Given the description of an element on the screen output the (x, y) to click on. 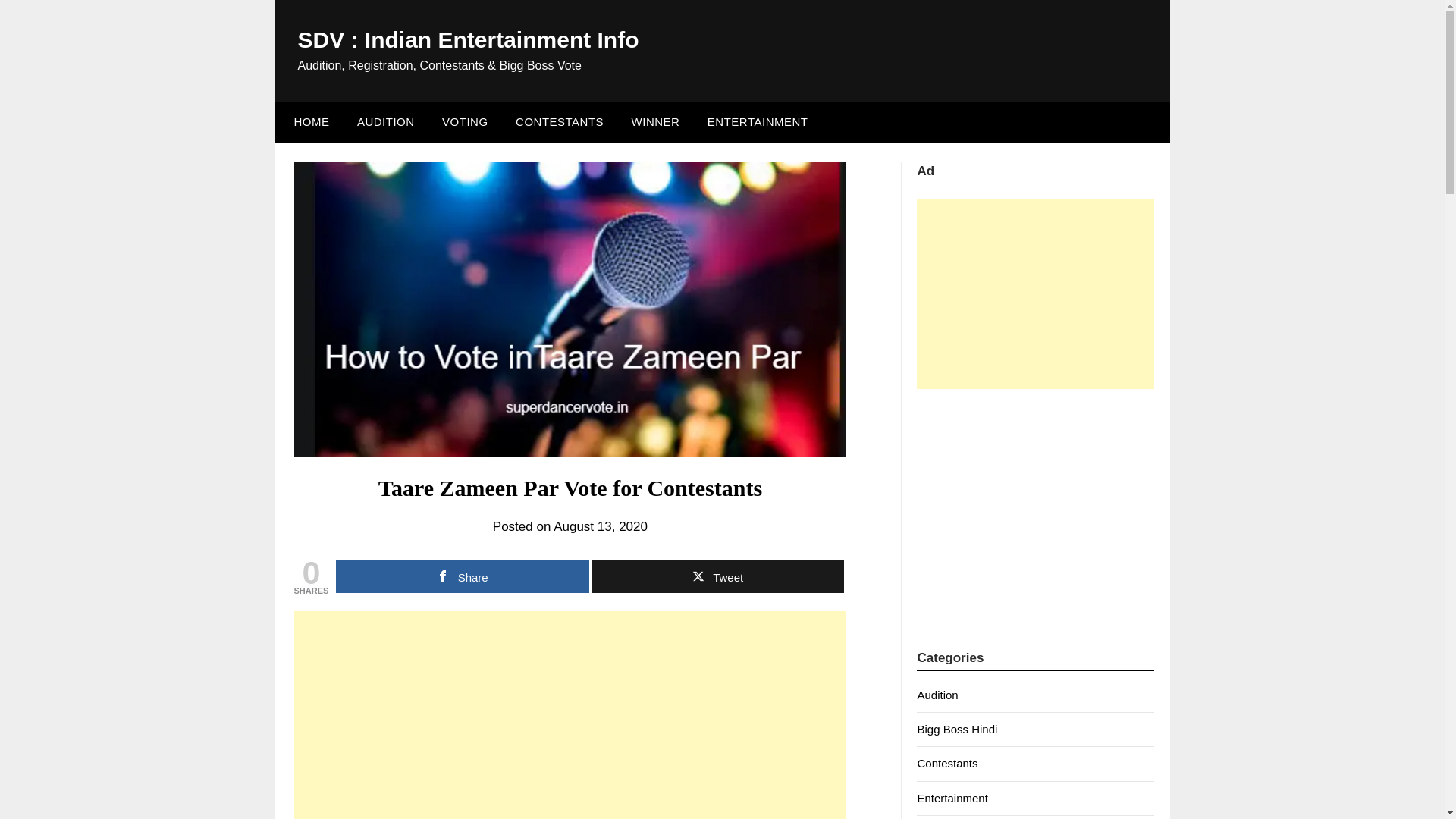
Advertisement (570, 714)
Bigg Boss Hindi (957, 728)
Tweet (717, 576)
Entertainment (952, 797)
HOME (307, 121)
VOTING (464, 121)
Advertisement (1035, 501)
AUDITION (385, 121)
Audition (937, 694)
CONTESTANTS (559, 121)
ENTERTAINMENT (758, 121)
WINNER (656, 121)
SDV : Indian Entertainment Info (468, 39)
Share (462, 576)
Contestants (946, 762)
